Given the description of an element on the screen output the (x, y) to click on. 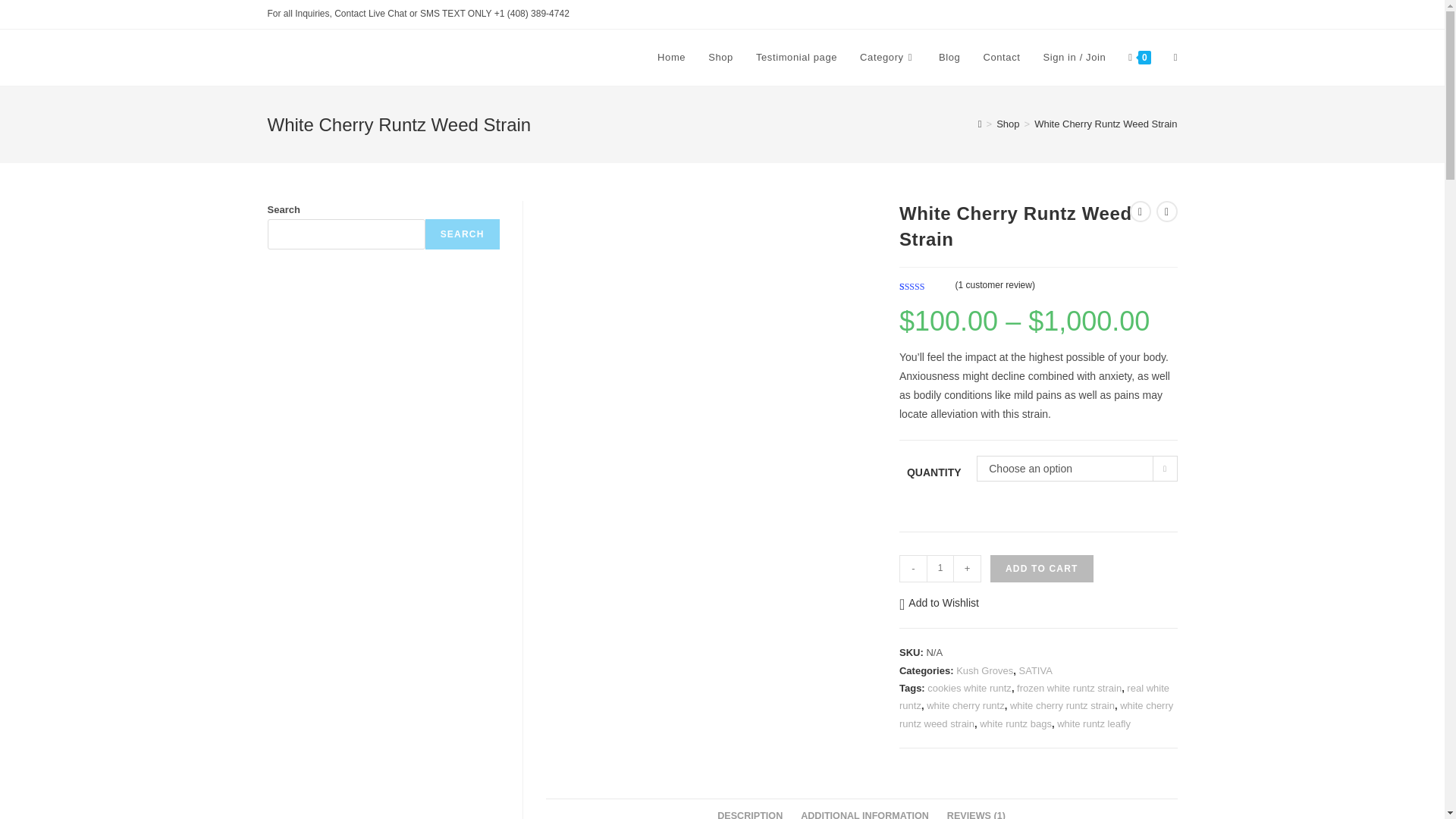
1 (939, 568)
Contact (1000, 57)
Testimonial page (796, 57)
Home (671, 57)
Category (887, 57)
